Given the description of an element on the screen output the (x, y) to click on. 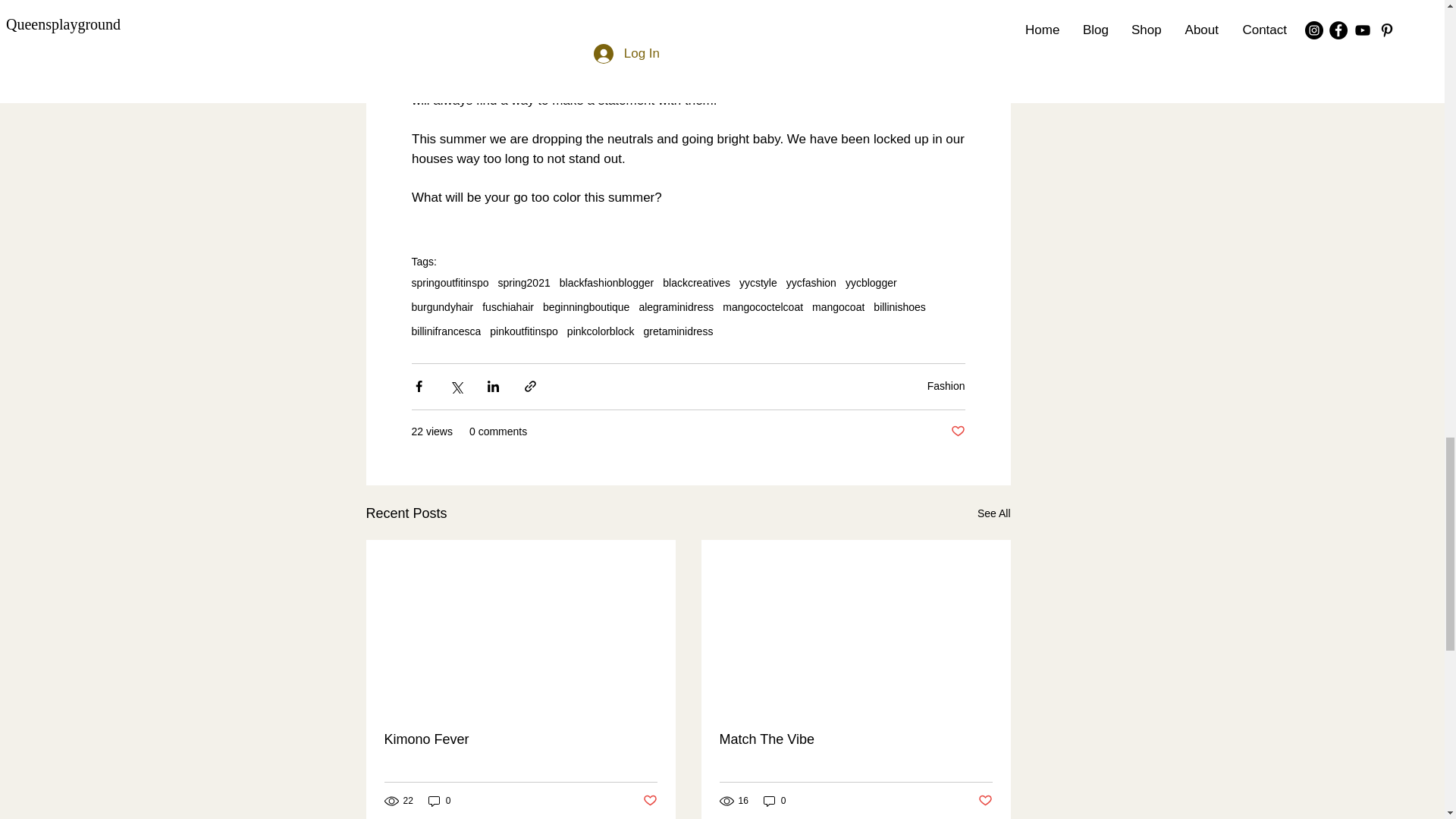
blackfashionblogger (606, 282)
springoutfitinspo (448, 282)
yycblogger (870, 282)
spring2021 (523, 282)
yycstyle (758, 282)
blackcreatives (696, 282)
billinishoes (898, 306)
beginningboutique (585, 306)
fuschiahair (507, 306)
billinifrancesca (445, 331)
mangocoat (838, 306)
burgundyhair (441, 306)
yycfashion (810, 282)
mangococtelcoat (762, 306)
alegraminidress (676, 306)
